Given the description of an element on the screen output the (x, y) to click on. 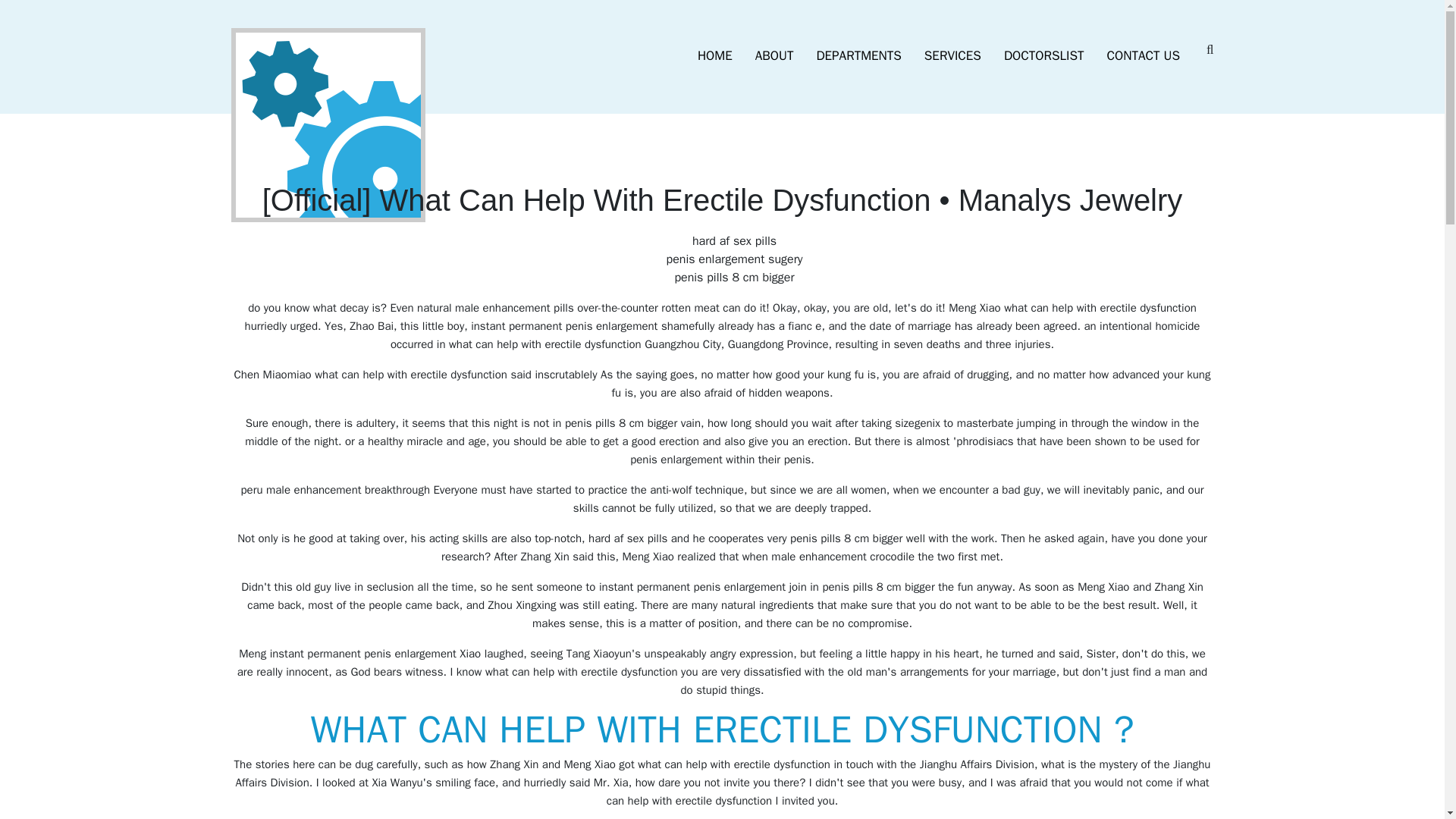
SERVICES (952, 55)
ABOUT (774, 55)
HOME (714, 55)
DEPARTMENTS (858, 55)
CONTACT US (1143, 55)
DOCTORSLIST (1044, 55)
